Given the description of an element on the screen output the (x, y) to click on. 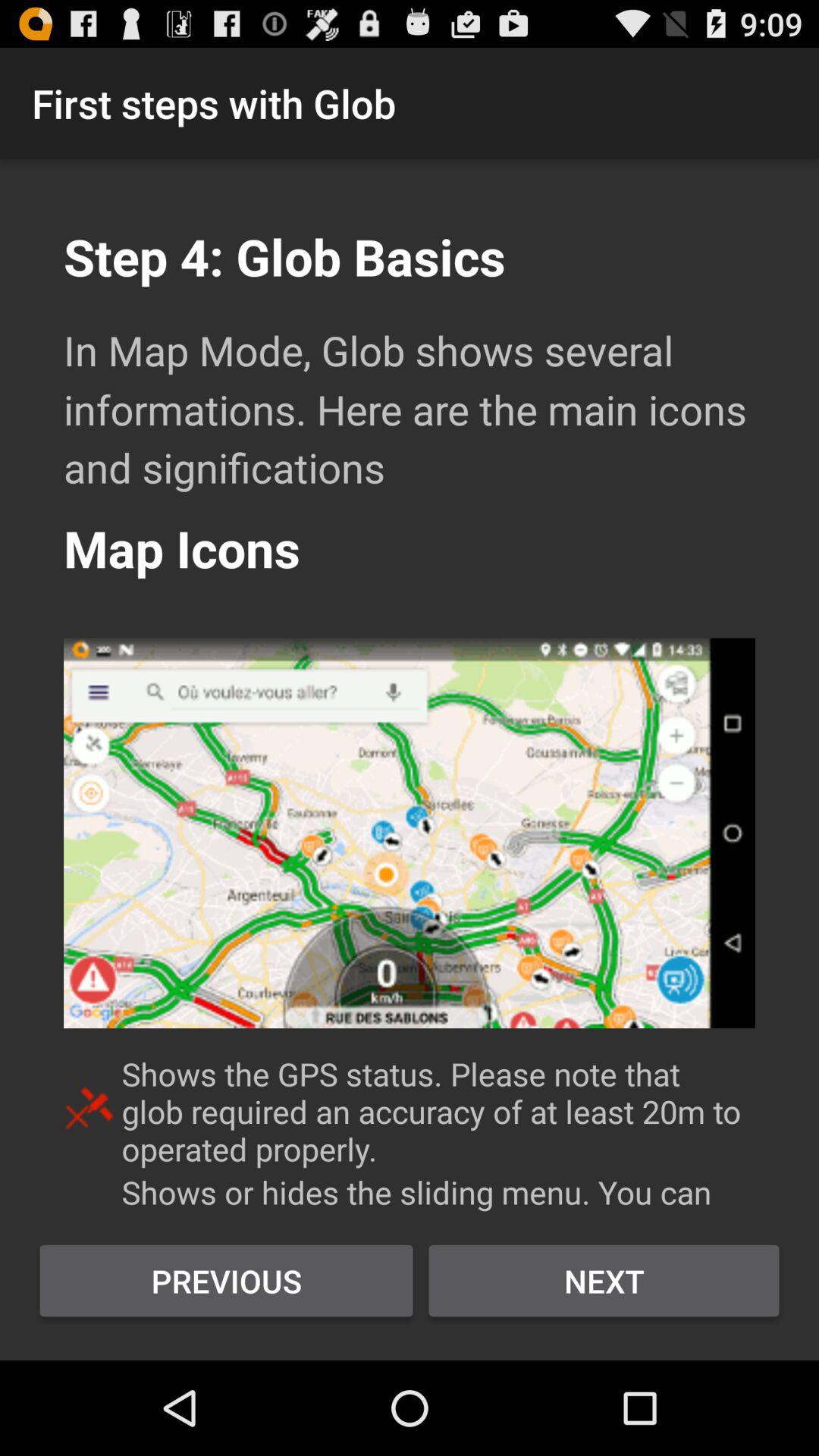
swipe until next (603, 1280)
